Given the description of an element on the screen output the (x, y) to click on. 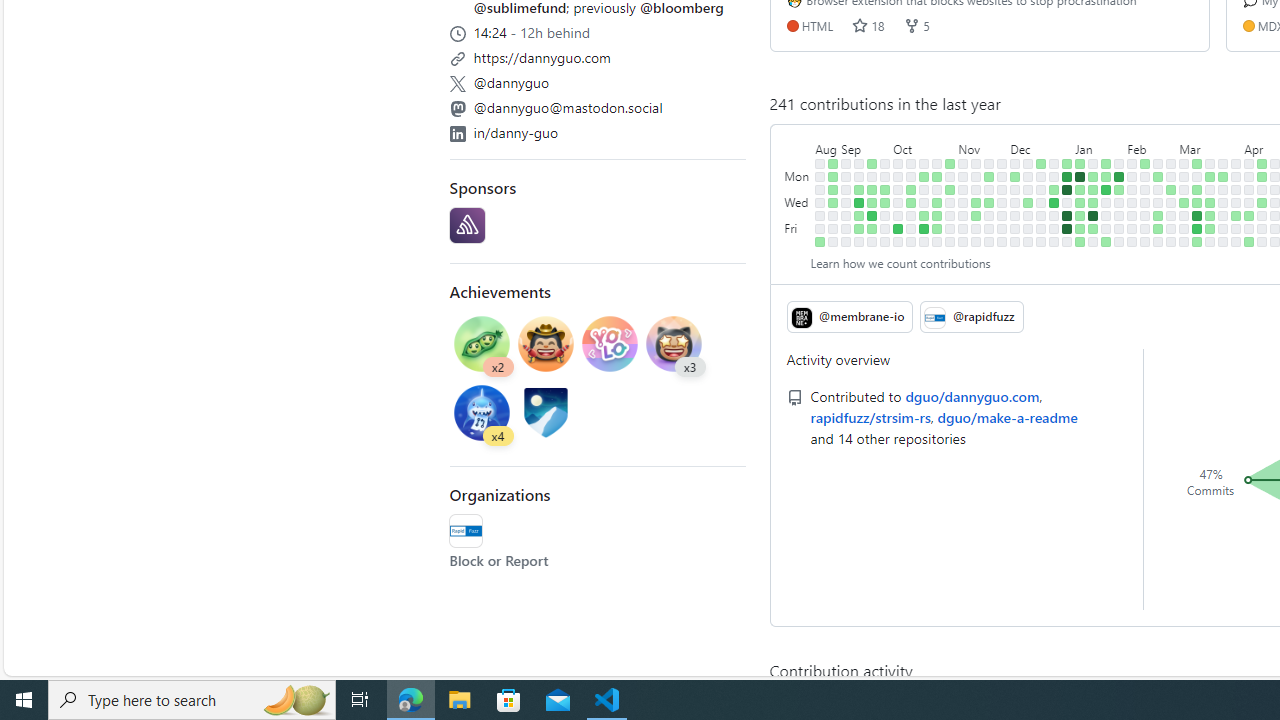
3 contributions on January 17th. (1093, 202)
No contributions on October 13th. (911, 228)
No contributions on August 22nd. (820, 189)
No contributions on October 21st. (924, 241)
No contributions on December 23rd. (1041, 241)
No contributions on November 28th. (1002, 189)
No contributions on December 5th. (1015, 189)
@dannyguo (511, 82)
No contributions on April 18th. (1262, 215)
No contributions on February 29th. (1171, 215)
Achievement: Pull Shark (481, 412)
2 contributions on August 30th. (833, 202)
2 contributions on March 10th. (1197, 163)
No contributions on November 6th. (962, 176)
2 contributions on March 18th. (1210, 176)
